Given the description of an element on the screen output the (x, y) to click on. 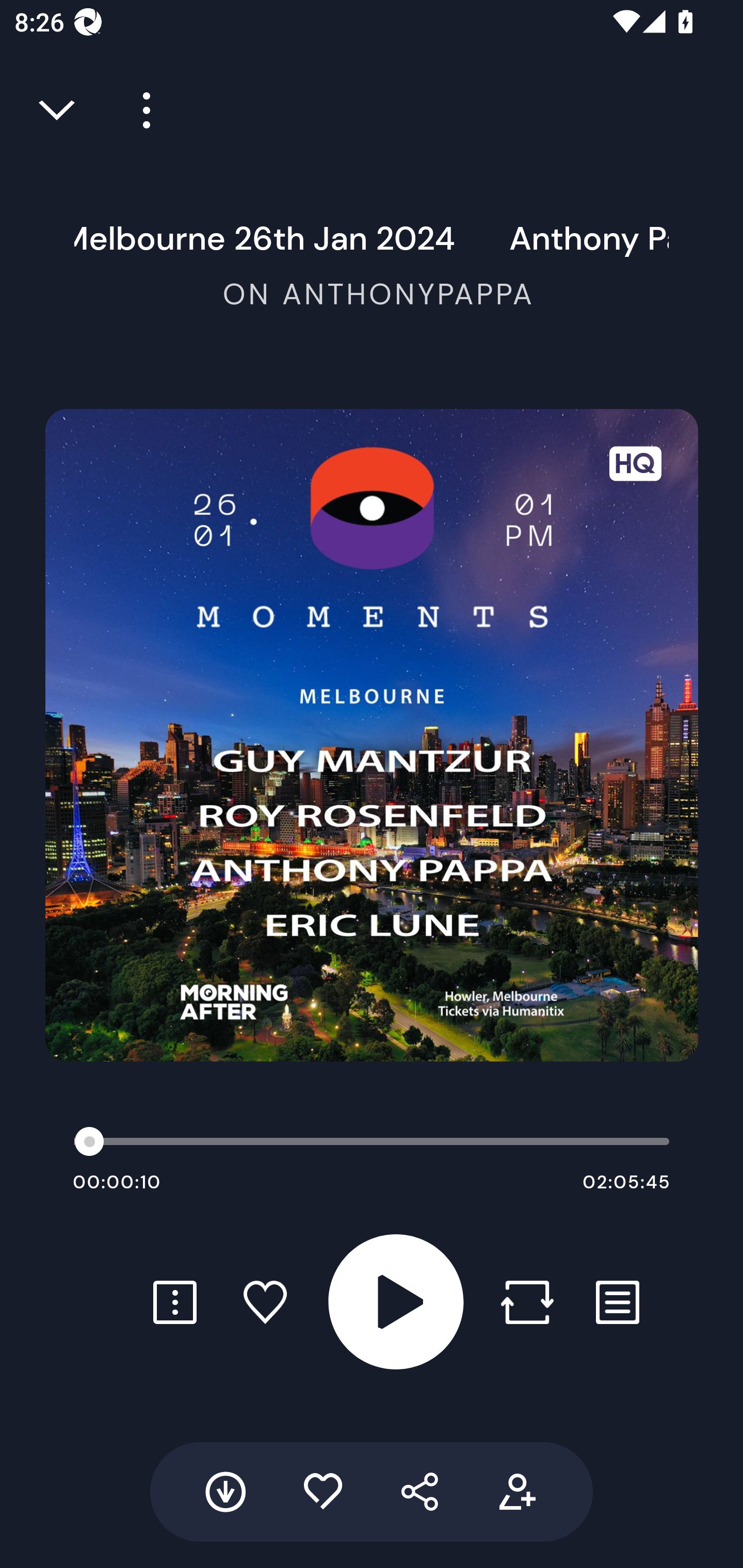
Close full player (58, 110)
Player more options button (139, 110)
Repost button (527, 1301)
